Given the description of an element on the screen output the (x, y) to click on. 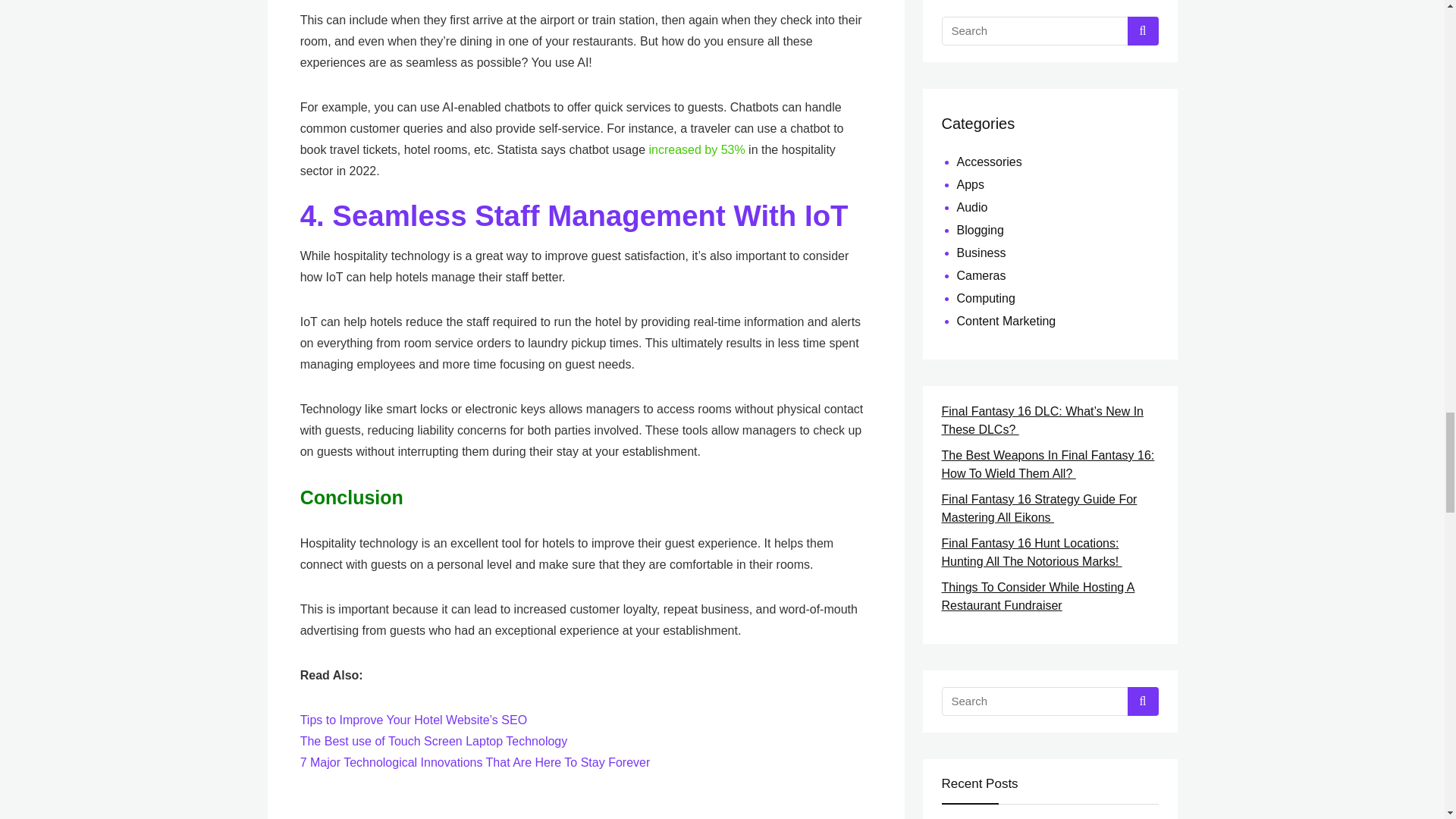
The Best use of Touch Screen Laptop Technology (433, 740)
